Given the description of an element on the screen output the (x, y) to click on. 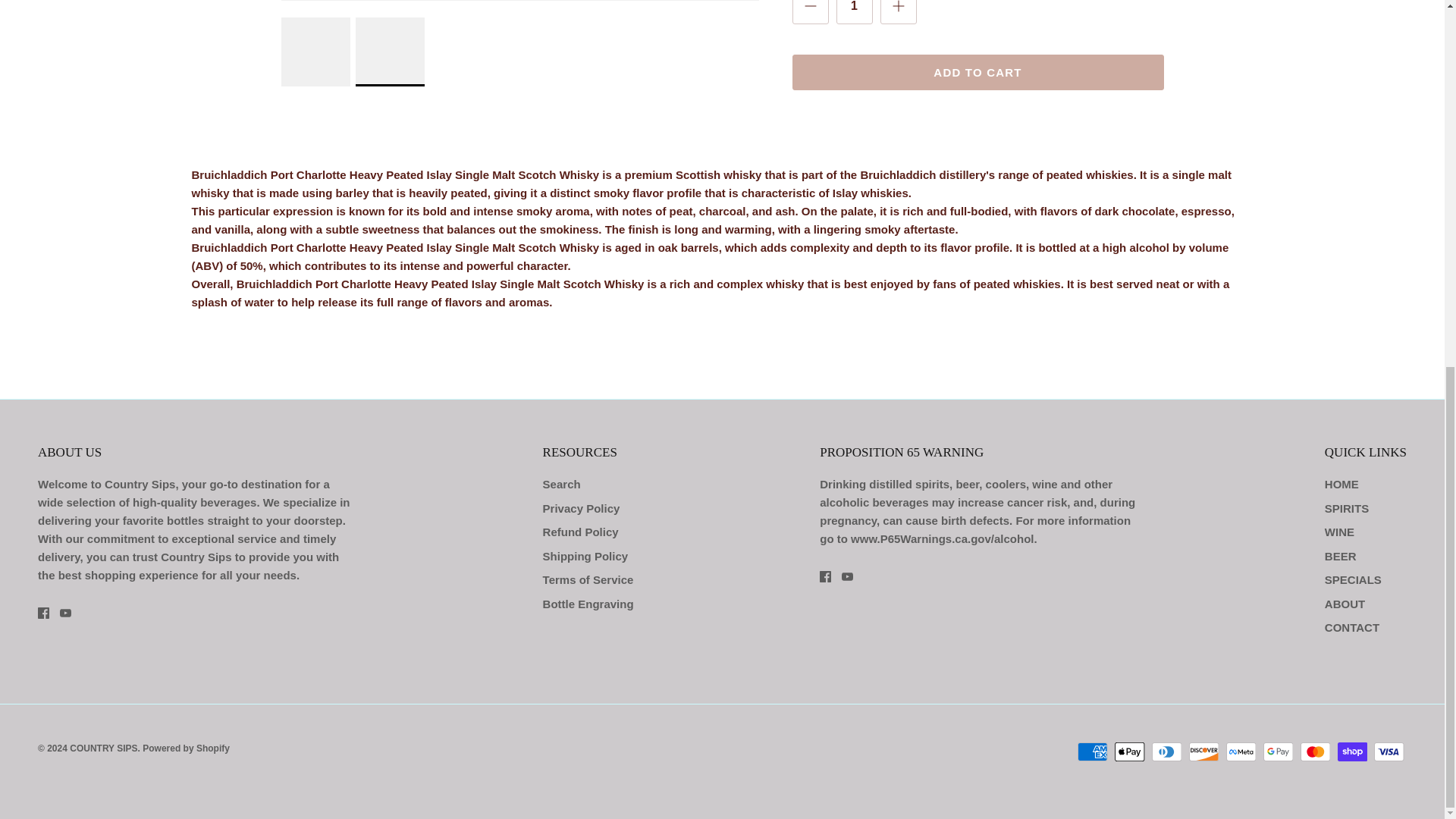
Youtube (847, 576)
Youtube (65, 613)
Mastercard (1315, 751)
American Express (1092, 751)
Meta Pay (1240, 751)
Diners Club (1166, 751)
Facebook (43, 613)
Google Pay (1277, 751)
Facebook (825, 576)
Apple Pay (1129, 751)
